Given the description of an element on the screen output the (x, y) to click on. 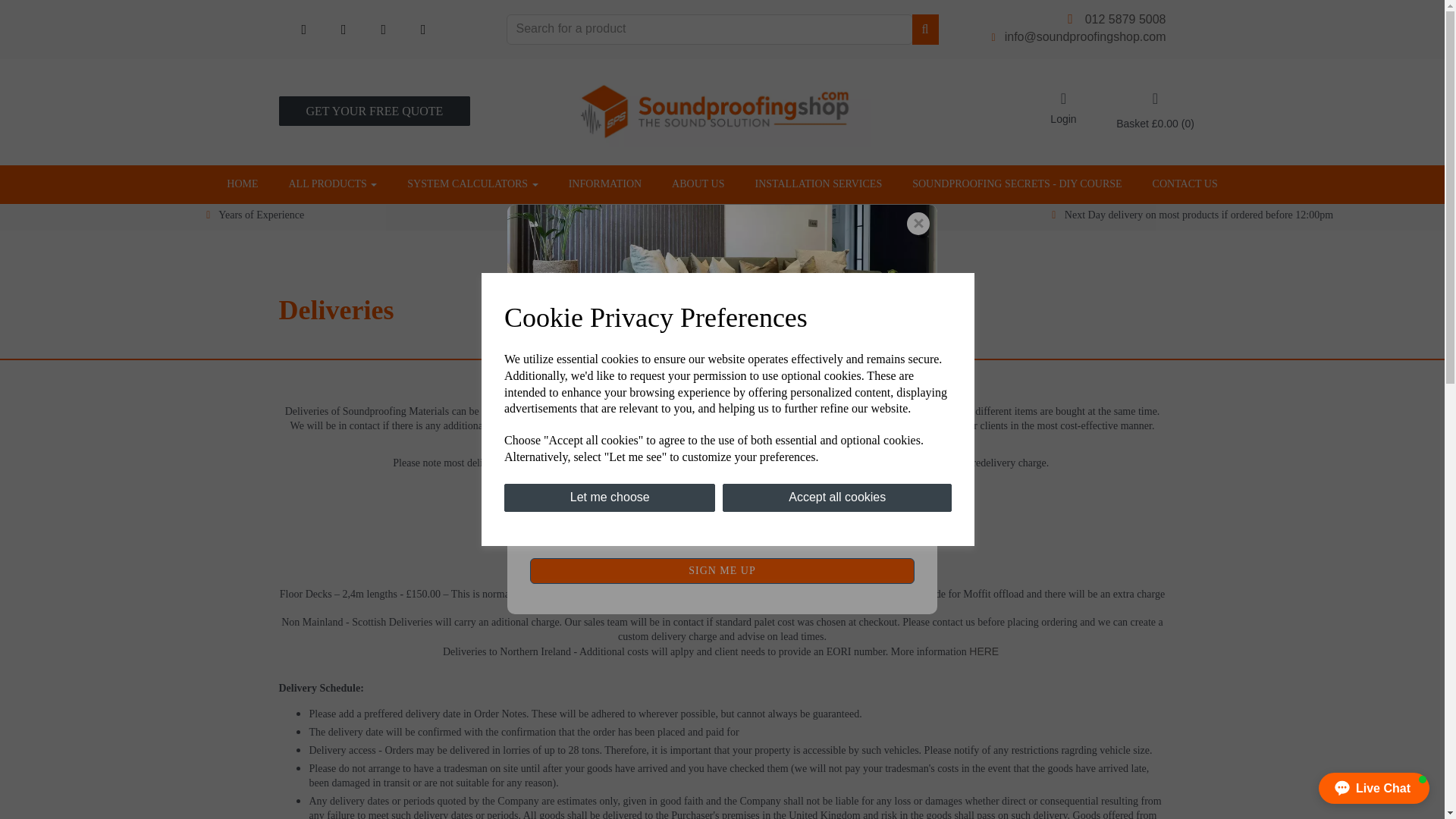
ALL PRODUCTS (332, 184)
SYSTEM CALCULATORS (472, 184)
HOME (242, 184)
on (534, 529)
Accept all cookies (837, 497)
Let me choose (608, 497)
Login (1063, 108)
012 5879 5008 (1125, 19)
GET YOUR FREE QUOTE (374, 111)
